Given the description of an element on the screen output the (x, y) to click on. 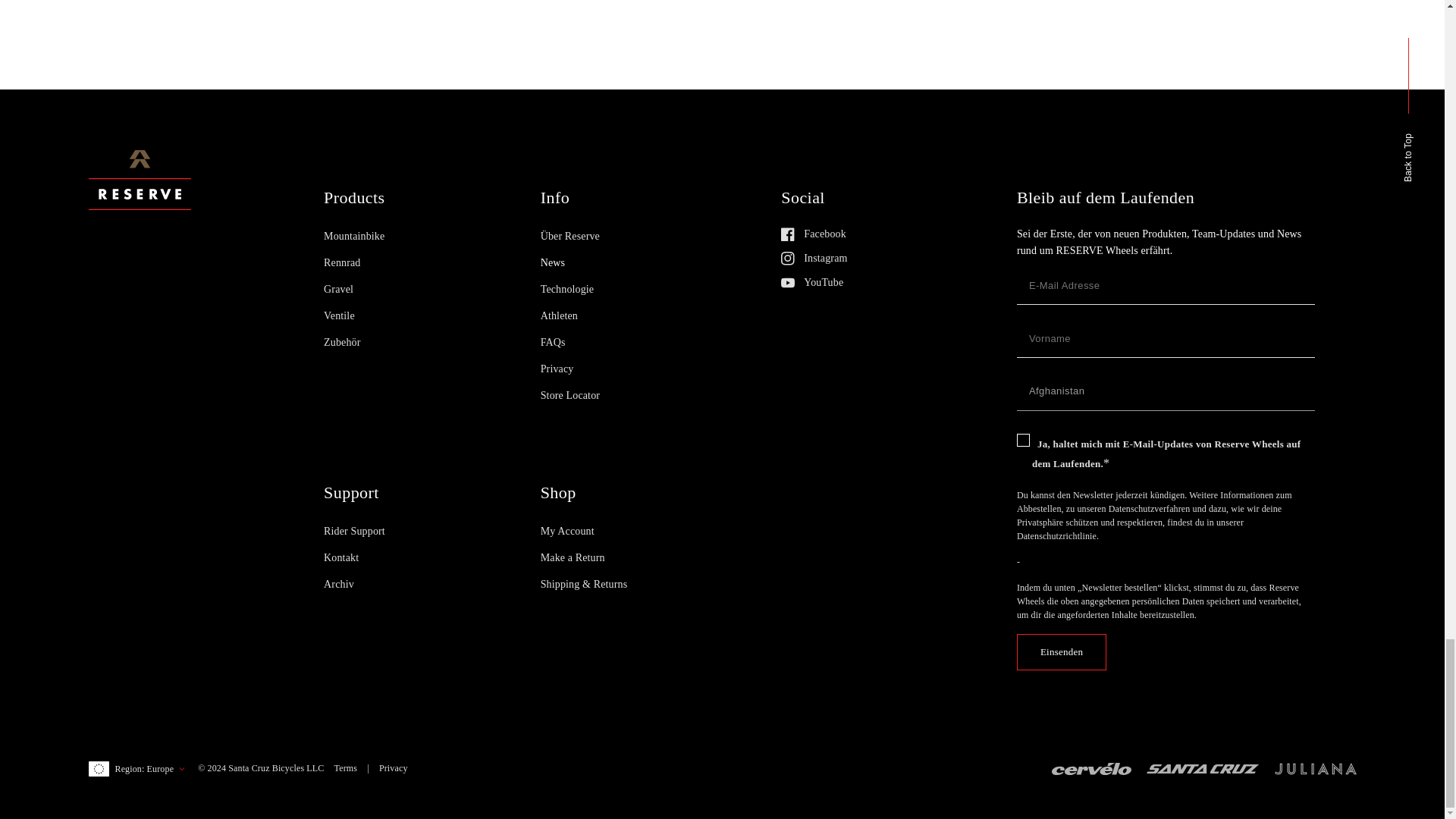
Einsenden (1061, 651)
Privacy (556, 372)
Athleten (559, 319)
true (1022, 440)
News (552, 266)
Rennrad (341, 266)
Technologie (567, 293)
Store Locator (569, 399)
Ventile (339, 319)
Mountainbike (353, 240)
FAQs (553, 346)
Gravel (338, 293)
